Given the description of an element on the screen output the (x, y) to click on. 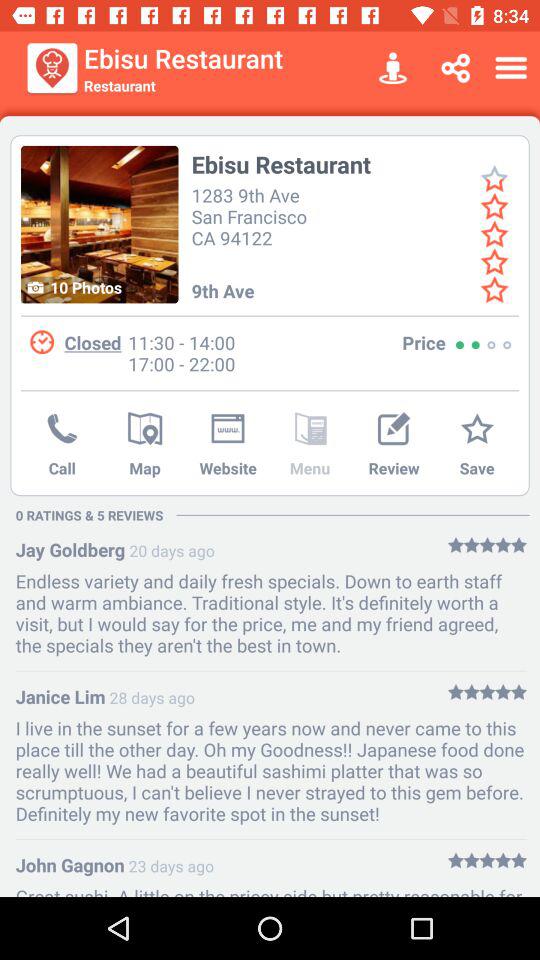
turn on the 1283 9th ave icon (251, 214)
